Given the description of an element on the screen output the (x, y) to click on. 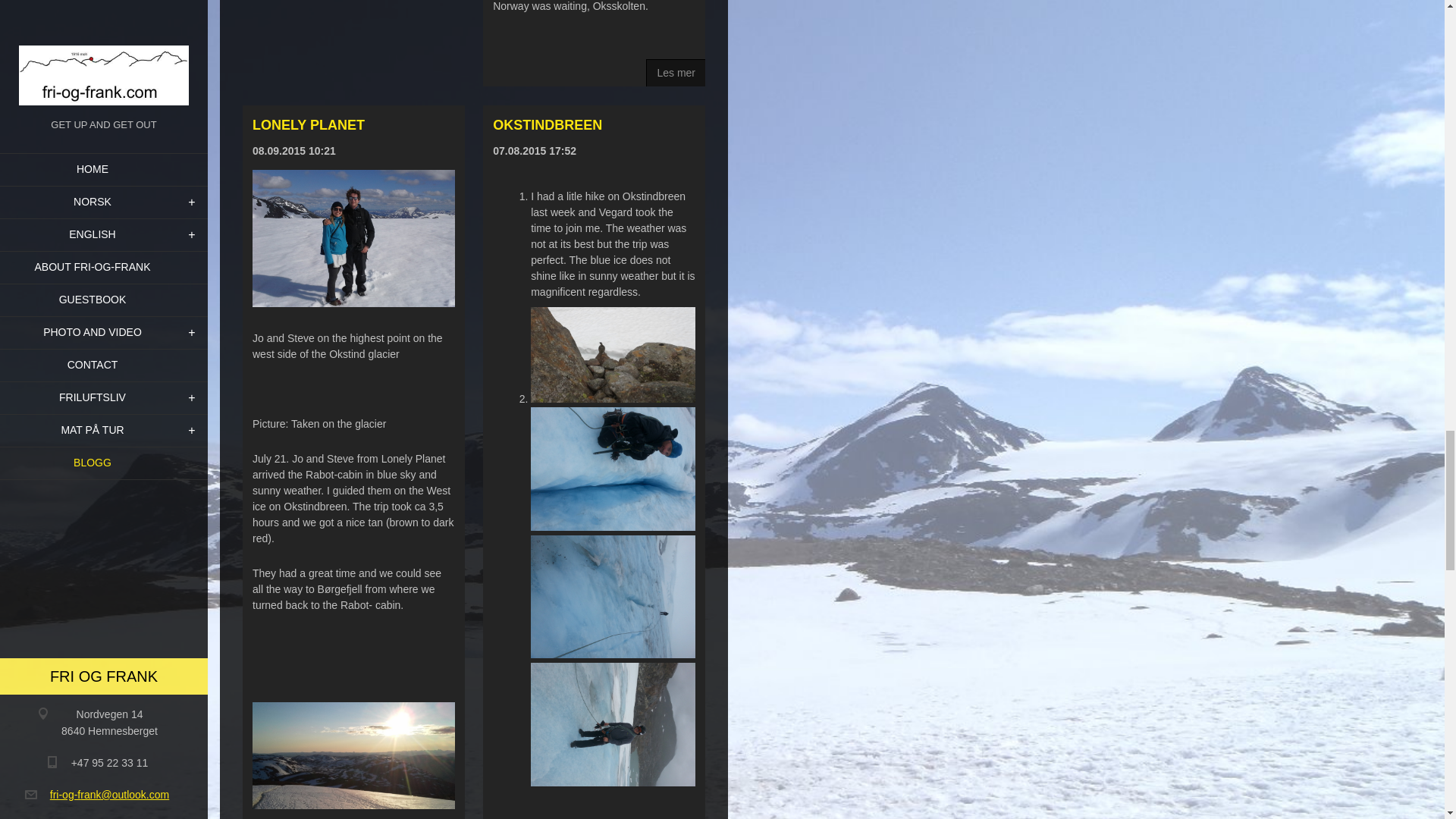
Se hele artikkelen. (675, 72)
